Given the description of an element on the screen output the (x, y) to click on. 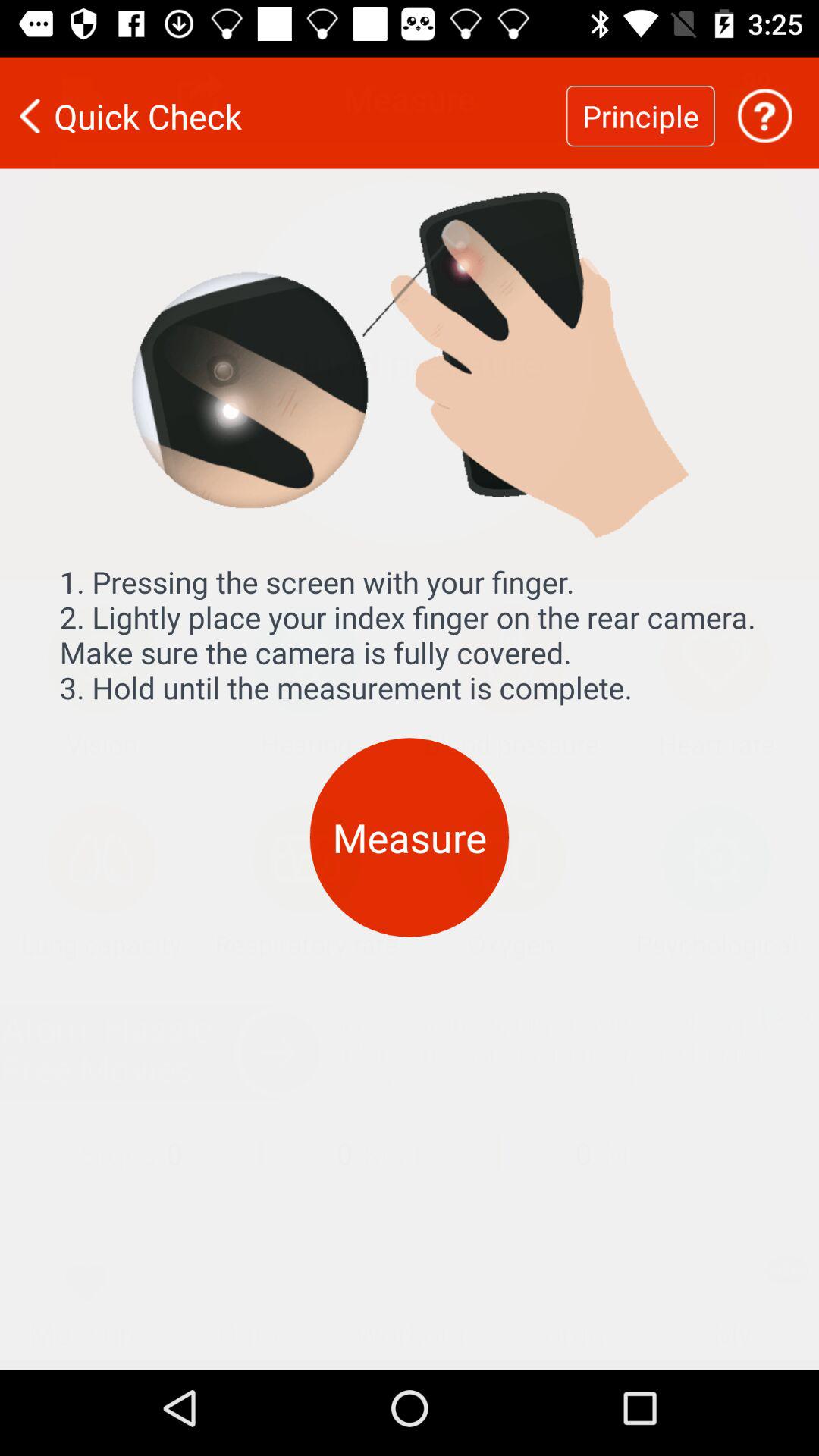
get help (764, 106)
